Given the description of an element on the screen output the (x, y) to click on. 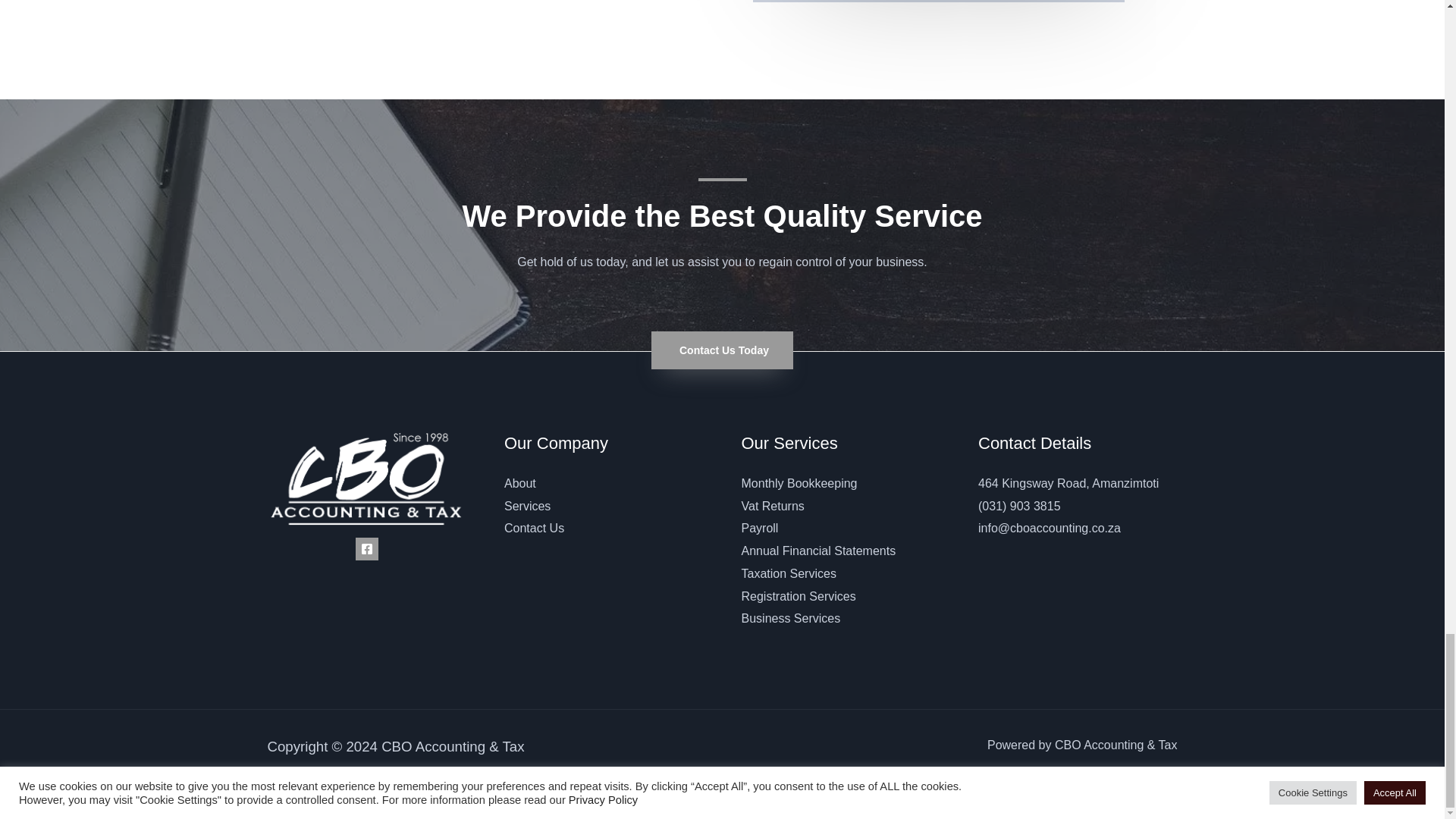
Services (526, 505)
About (519, 482)
Contact Us (533, 527)
Vat Returns (773, 505)
Contact Us Today (721, 350)
Monthly Bookkeeping (799, 482)
Annual Financial Statements (818, 550)
Payroll (759, 527)
